Given the description of an element on the screen output the (x, y) to click on. 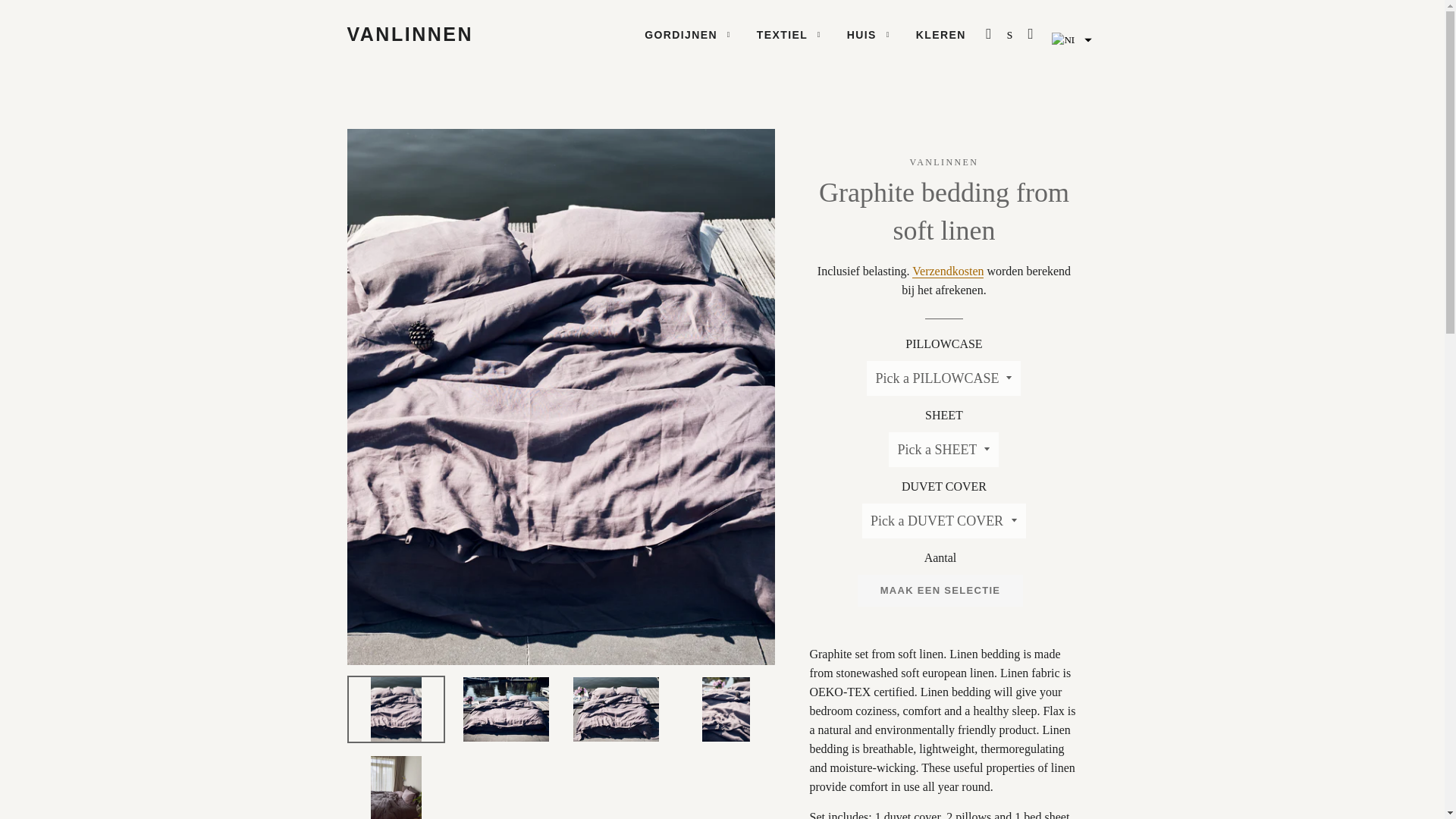
VANLINNEN (410, 34)
GORDIJNEN (687, 35)
